Given the description of an element on the screen output the (x, y) to click on. 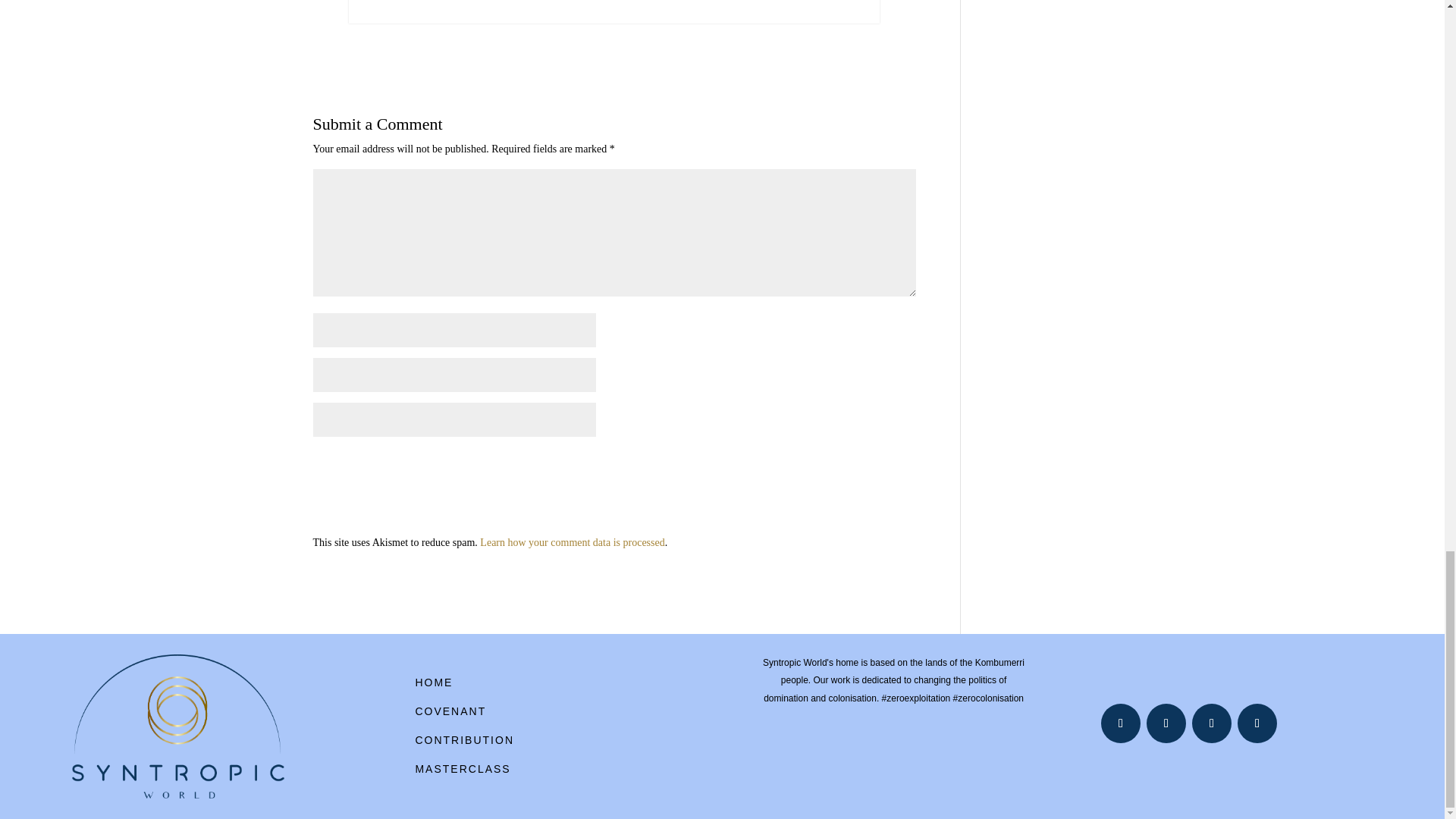
Follow on X (1166, 722)
Follow on Instagram (1256, 722)
Submit Comment (840, 466)
Follow on Facebook (1120, 722)
Follow on LinkedIn (1211, 722)
SyntropicWorld (177, 726)
